Given the description of an element on the screen output the (x, y) to click on. 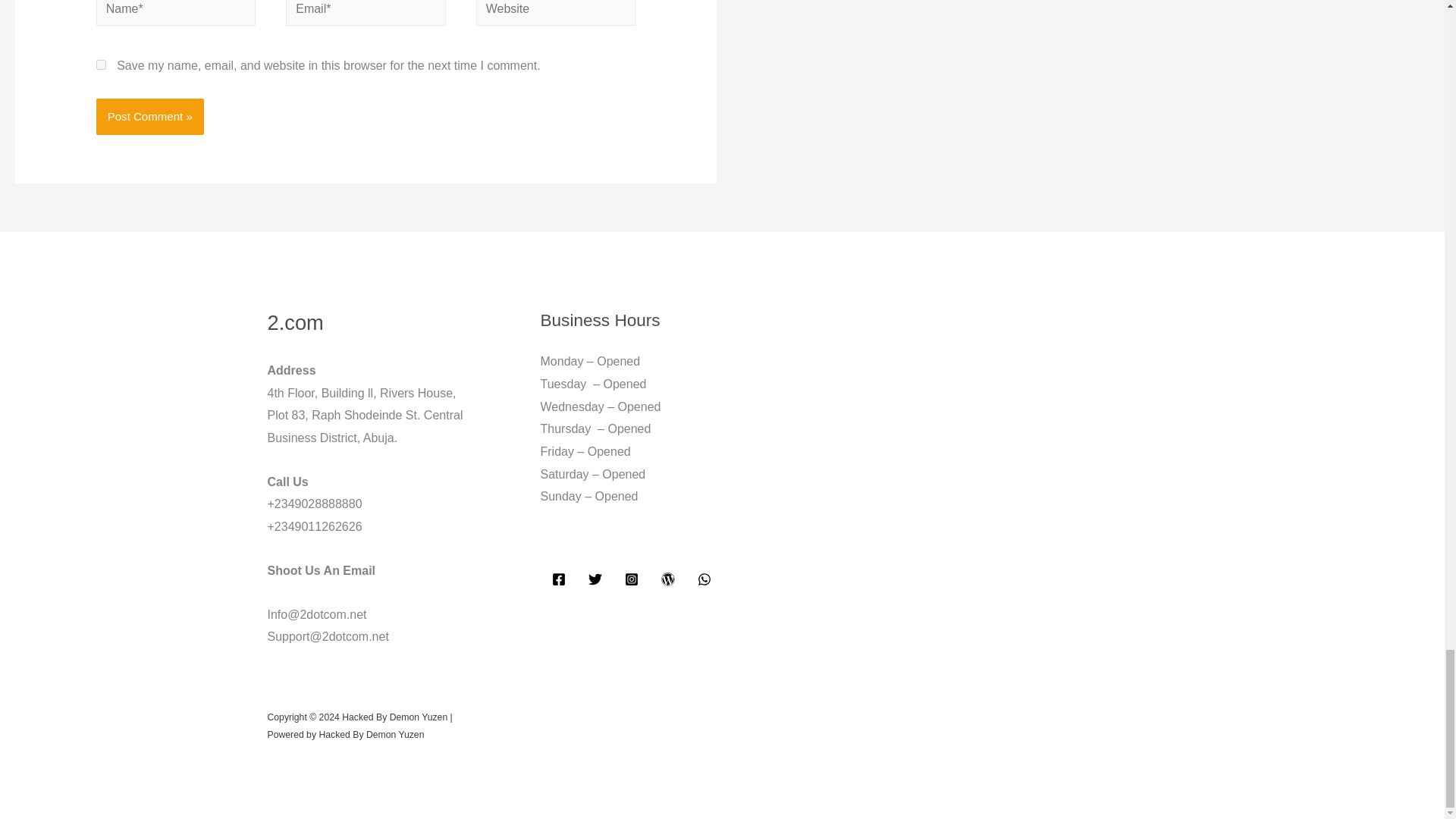
yes (101, 64)
